Given the description of an element on the screen output the (x, y) to click on. 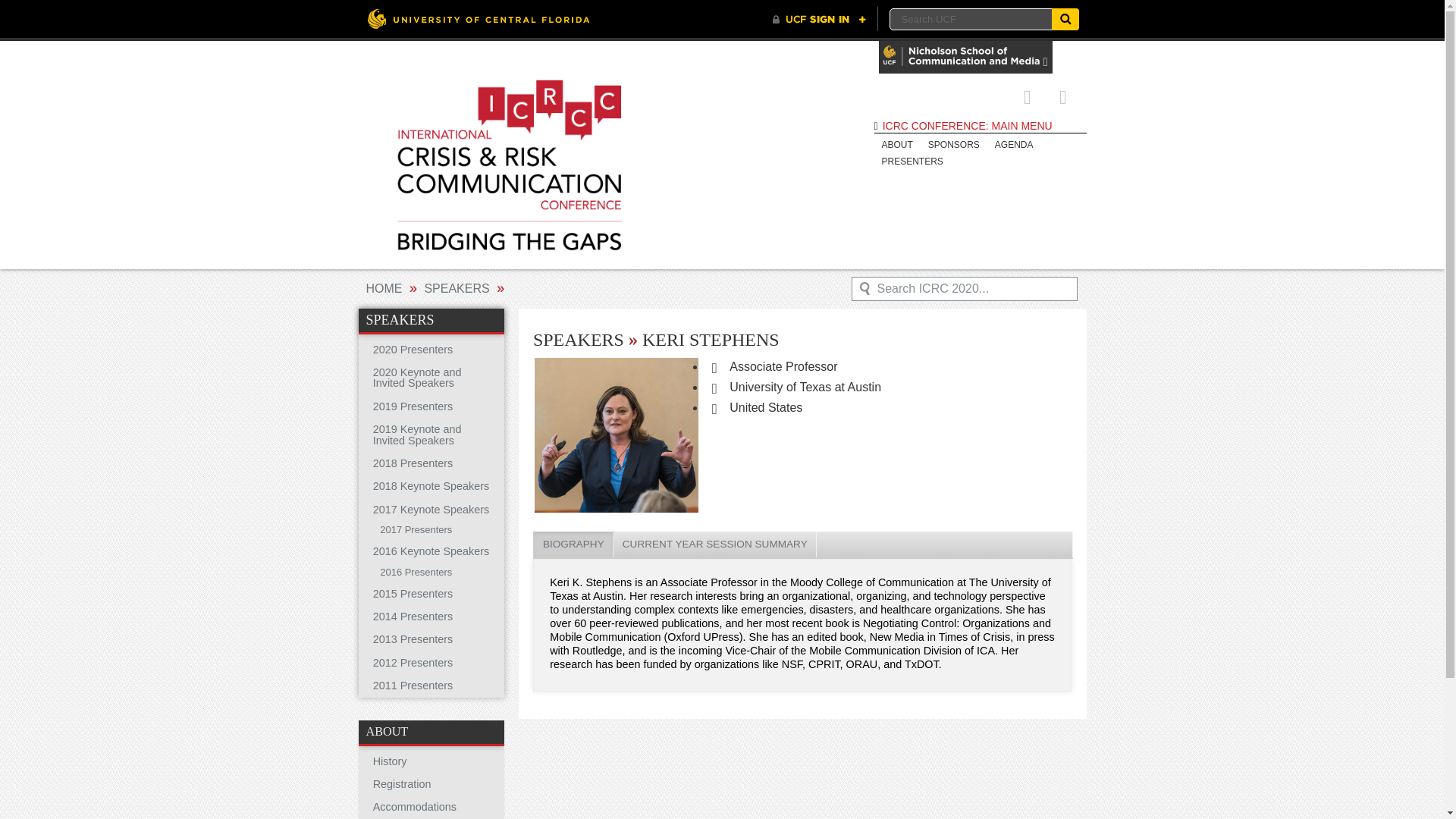
2020 Keynote and Invited Speakers (430, 377)
History (430, 761)
View All 2018 Keynote Speakers Members (430, 486)
2011 Presenters (430, 685)
View All 2020 Presenters Members (430, 349)
SPEAKERS (430, 320)
2019 Presenters (430, 405)
Search (1064, 19)
2015 Presenters (430, 593)
View All 2012 Presenters Members (430, 662)
2012 Presenters (430, 662)
HOME (383, 288)
SPEAKERS (456, 288)
2013 Presenters (430, 639)
2016 Presenters (430, 572)
